Given the description of an element on the screen output the (x, y) to click on. 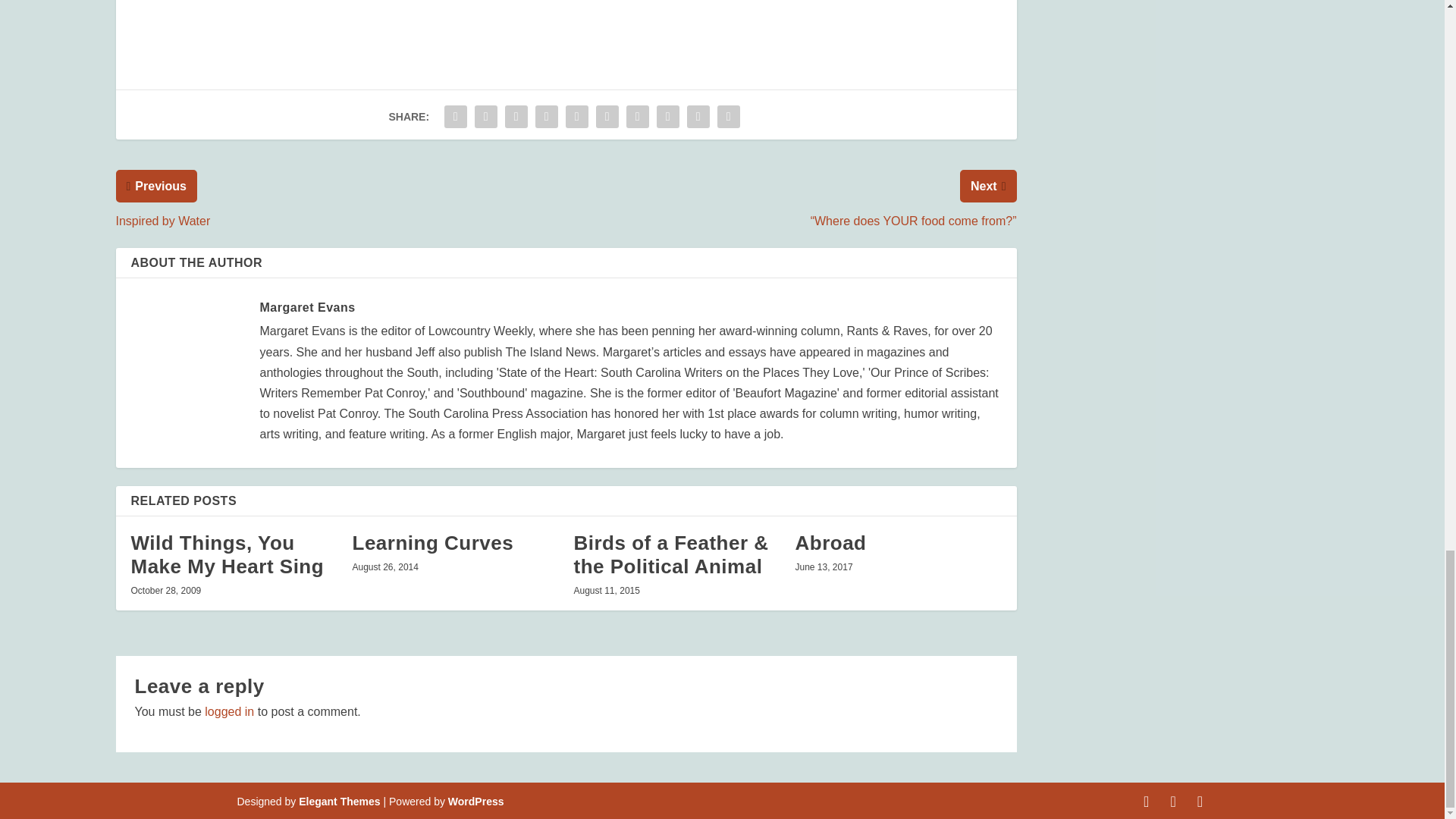
Share "Reader to Reader" via Tumblr (546, 116)
Share "Reader to Reader" via Pinterest (577, 116)
Share "Reader to Reader" via Email (697, 116)
Share "Reader to Reader" via Print (728, 116)
Share "Reader to Reader" via Stumbleupon (667, 116)
Share "Reader to Reader" via LinkedIn (607, 116)
Share "Reader to Reader" via Buffer (637, 116)
Share "Reader to Reader" via Twitter (485, 116)
Share "Reader to Reader" via Facebook (455, 116)
